Given the description of an element on the screen output the (x, y) to click on. 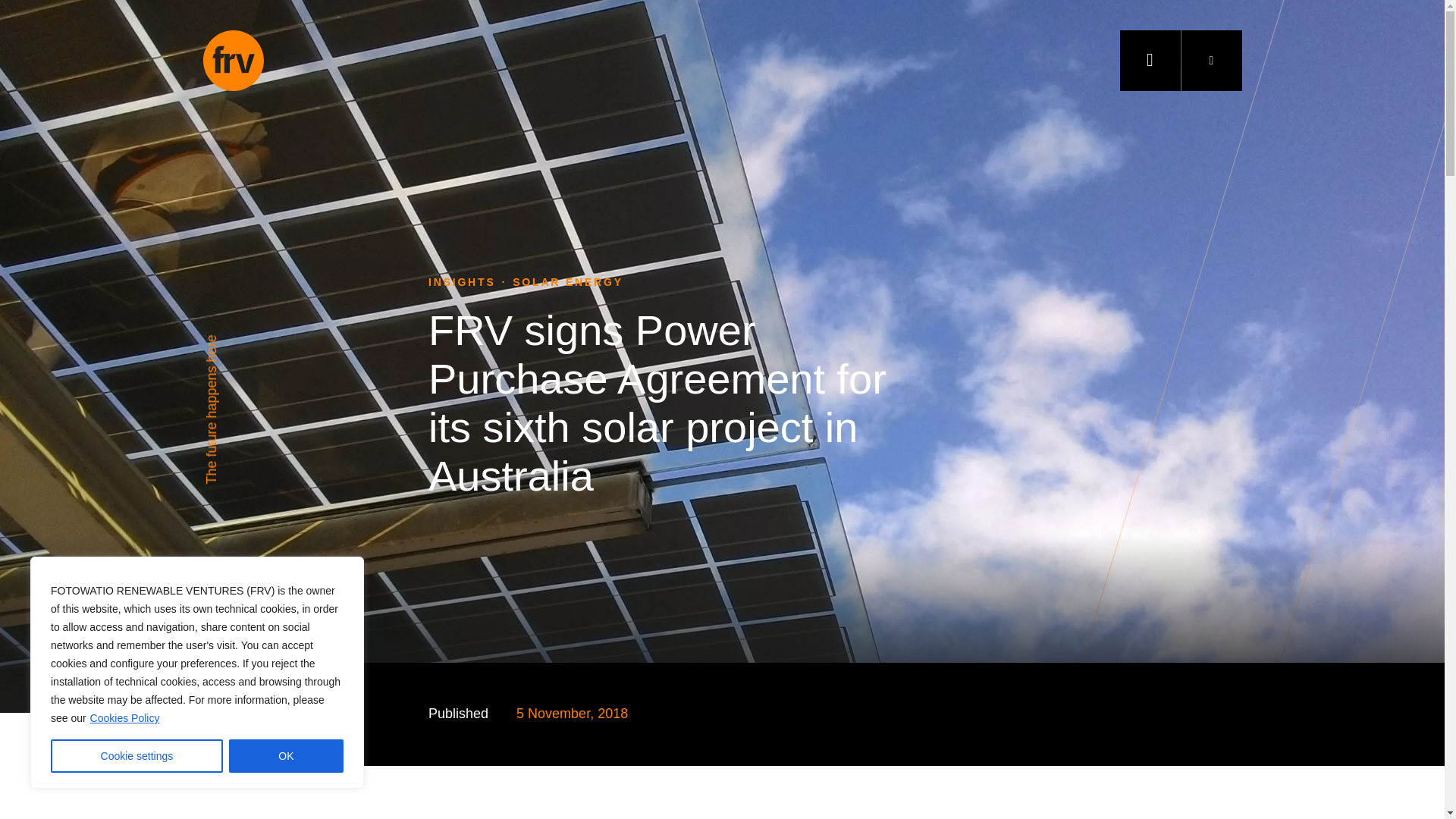
Home (233, 60)
Cookies Policy (124, 717)
Cookie settings (136, 756)
OK (285, 756)
Search (1203, 60)
